Given the description of an element on the screen output the (x, y) to click on. 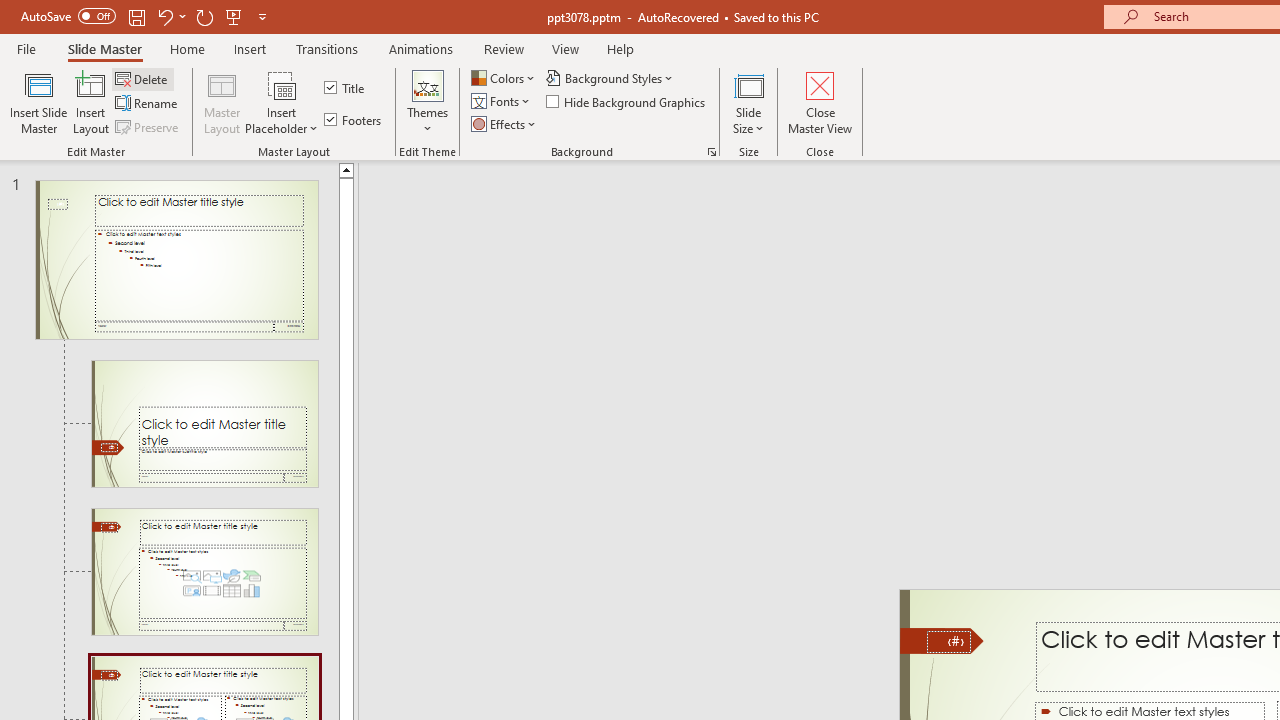
Preserve (148, 126)
Themes (427, 102)
Freeform 11 (941, 640)
Slide Title Slide Layout: used by slide(s) 1 (204, 423)
Background Styles (610, 78)
Close Master View (820, 102)
Delete (143, 78)
